Given the description of an element on the screen output the (x, y) to click on. 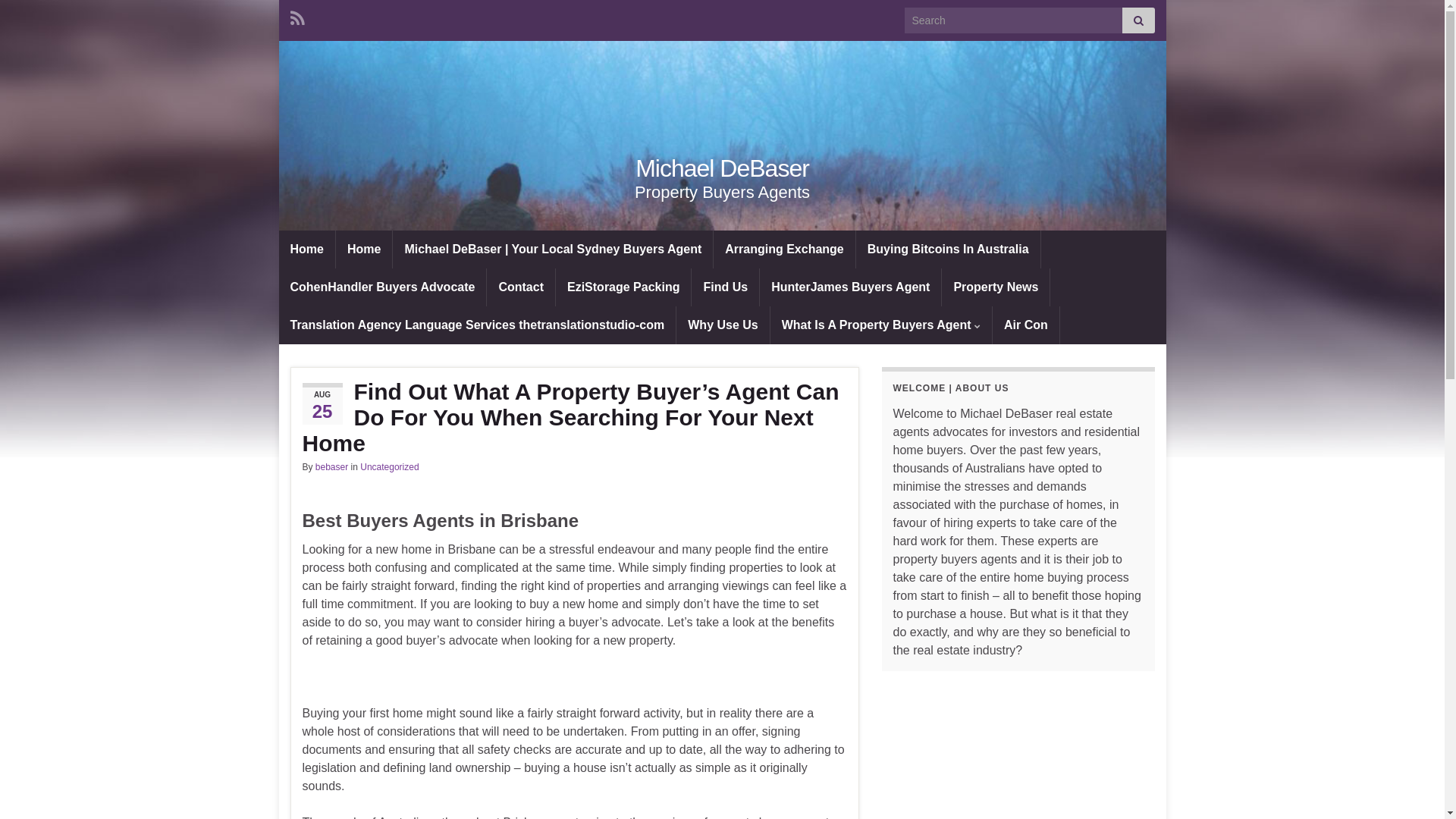
What Is A Property Buyers Agent Element type: text (880, 325)
EziStorage Packing Element type: text (623, 287)
Why Use Us Element type: text (722, 325)
Contact Element type: text (520, 287)
Michael DeBaser | Your Local Sydney Buyers Agent Element type: text (552, 249)
Buying Bitcoins In Australia Element type: text (948, 249)
Property News Element type: text (995, 287)
Michael DeBaser Element type: hover (722, 135)
Uncategorized Element type: text (389, 466)
Home Element type: text (363, 249)
Home Element type: text (307, 249)
Arranging Exchange Element type: text (783, 249)
HunterJames Buyers Agent Element type: text (850, 287)
Subscribe to Michael DeBaser's RSS feed Element type: hover (296, 16)
Air Con Element type: text (1025, 325)
bebaser Element type: text (331, 466)
CohenHandler Buyers Advocate Element type: text (382, 287)
Find Us Element type: text (725, 287)
